Given the description of an element on the screen output the (x, y) to click on. 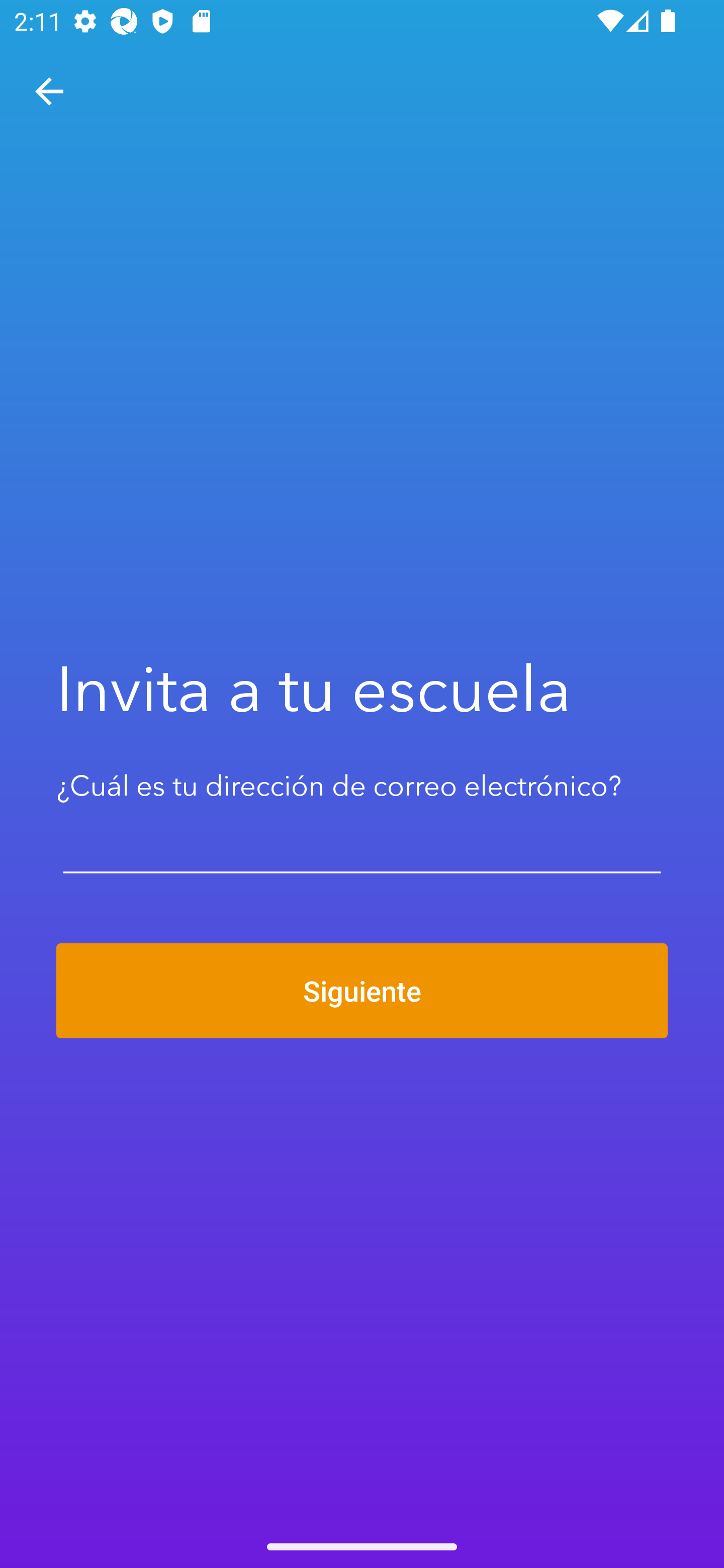
Navegar hacia arriba (49, 91)
Siguiente (361, 990)
